Given the description of an element on the screen output the (x, y) to click on. 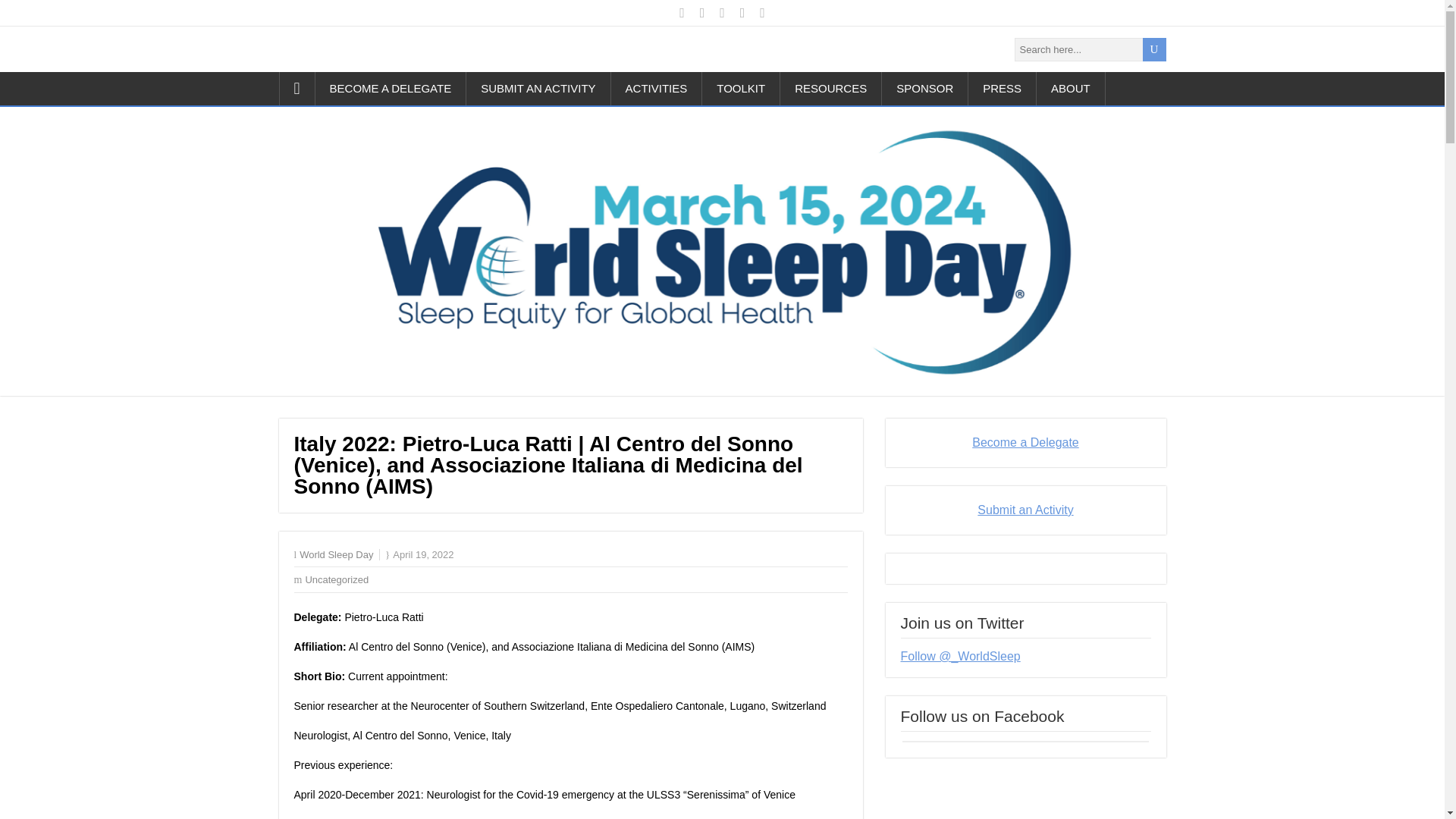
SUBMIT AN ACTIVITY (537, 88)
Uncategorized (336, 579)
TOOLKIT (740, 88)
Posts by World Sleep Day (335, 554)
PRESS (1002, 88)
RESOURCES (831, 88)
U (1153, 49)
SPONSOR (925, 88)
U (1153, 49)
U (1153, 49)
